Given the description of an element on the screen output the (x, y) to click on. 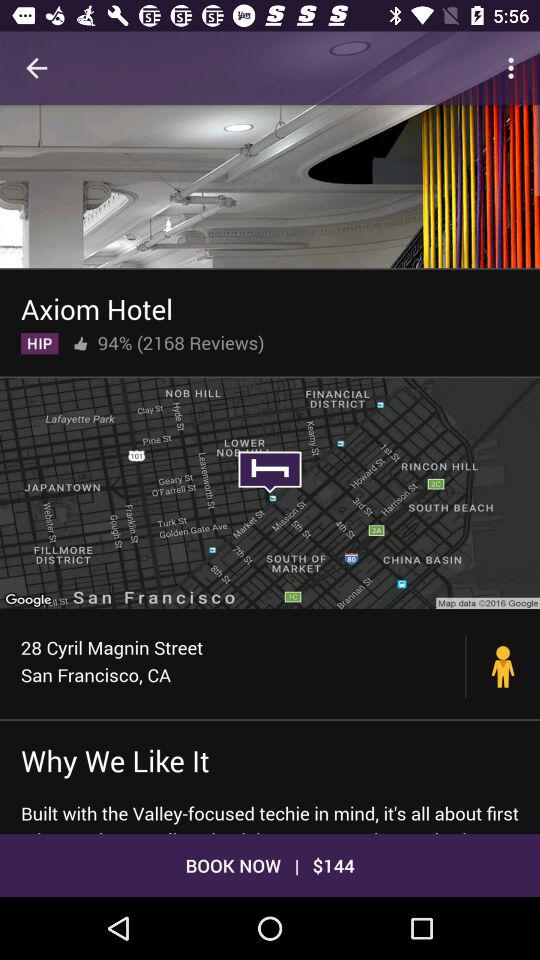
click on three vertical dots which is at top right corner (514, 68)
